Given the description of an element on the screen output the (x, y) to click on. 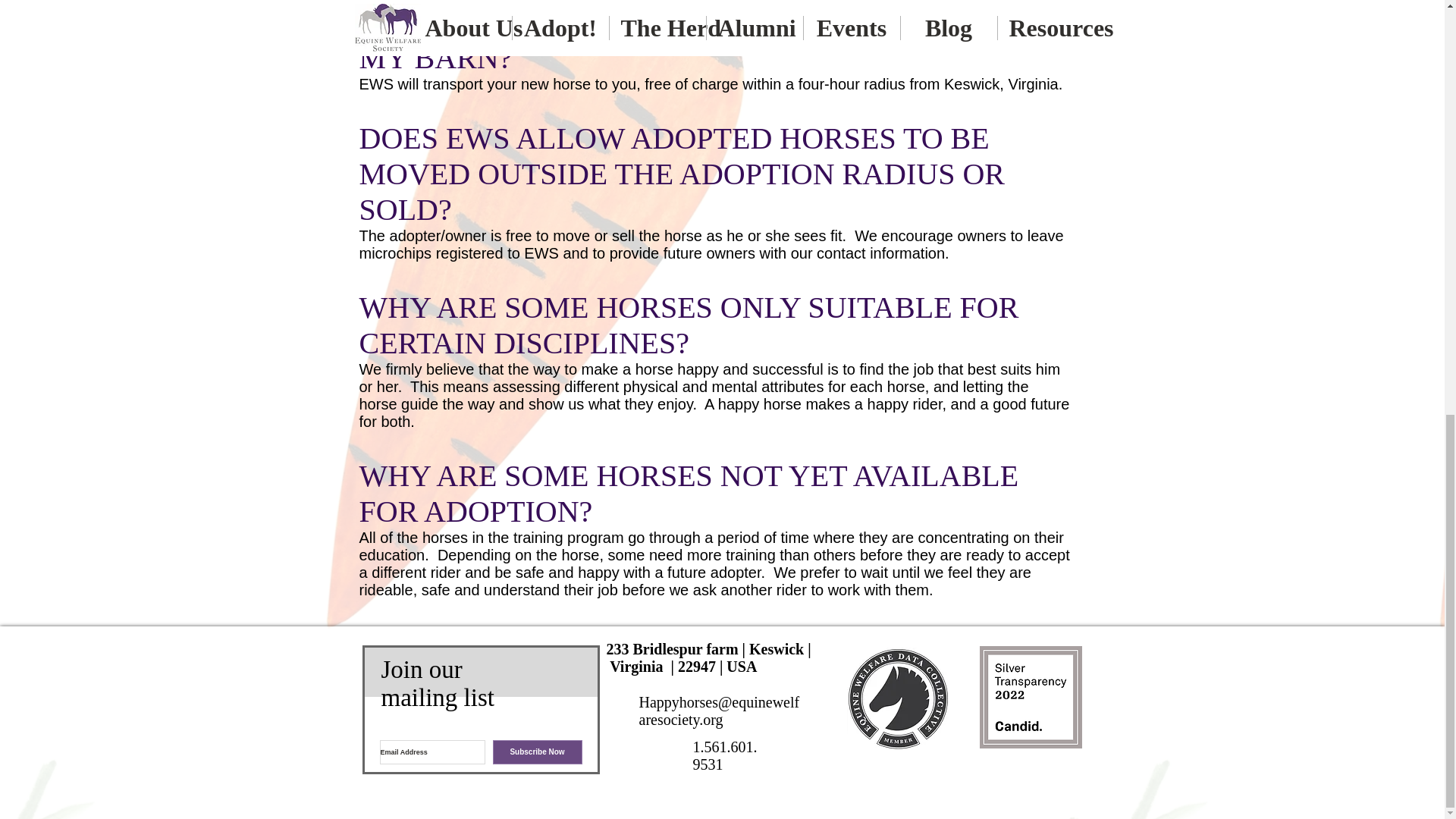
Subscribe Now (537, 752)
